Given the description of an element on the screen output the (x, y) to click on. 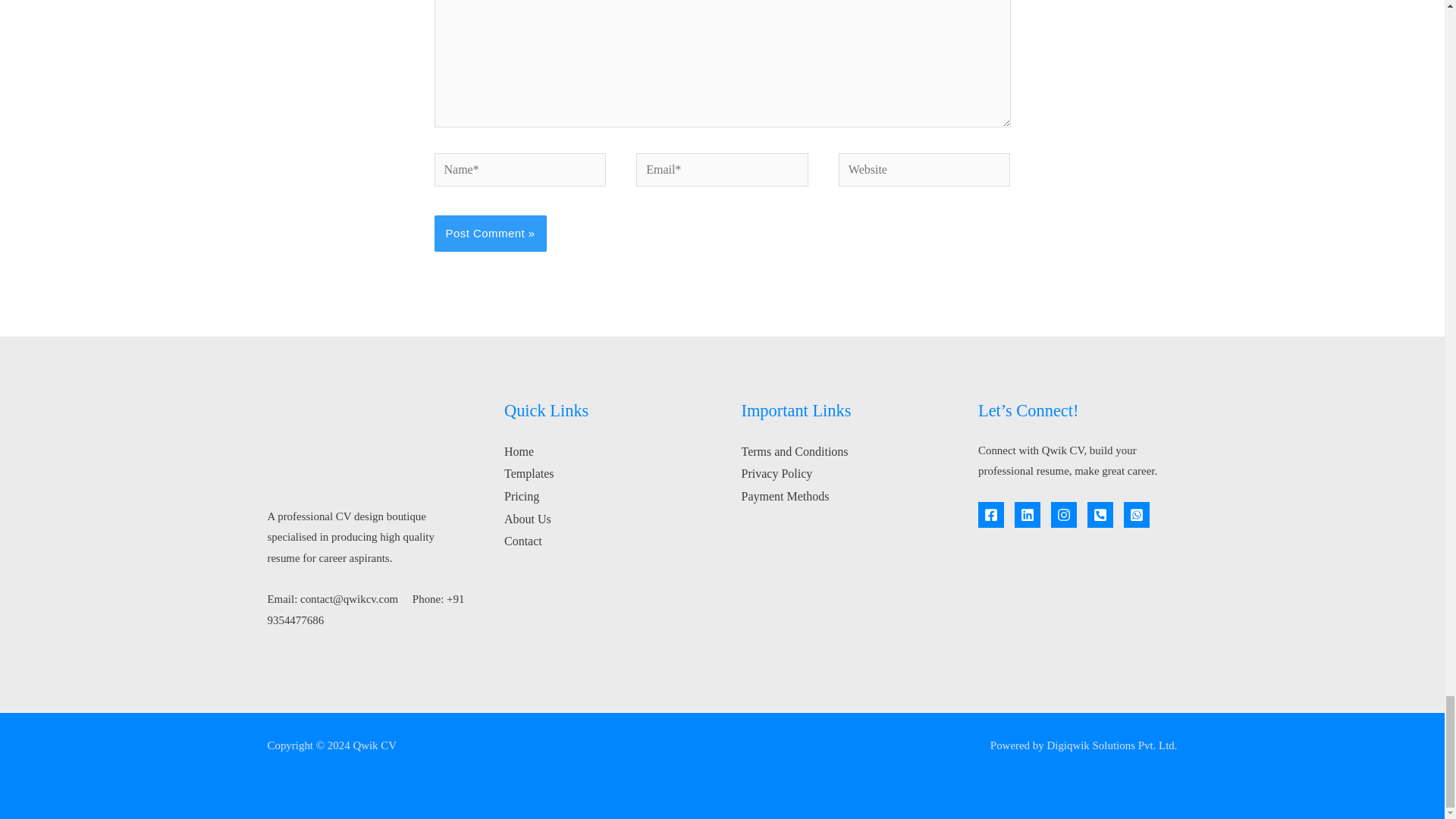
Pricing (520, 495)
Privacy Policy (776, 472)
About Us (527, 518)
Templates (528, 472)
Contact (522, 540)
Terms and Conditions (794, 451)
Payment Methods (785, 495)
Home (518, 451)
